Given the description of an element on the screen output the (x, y) to click on. 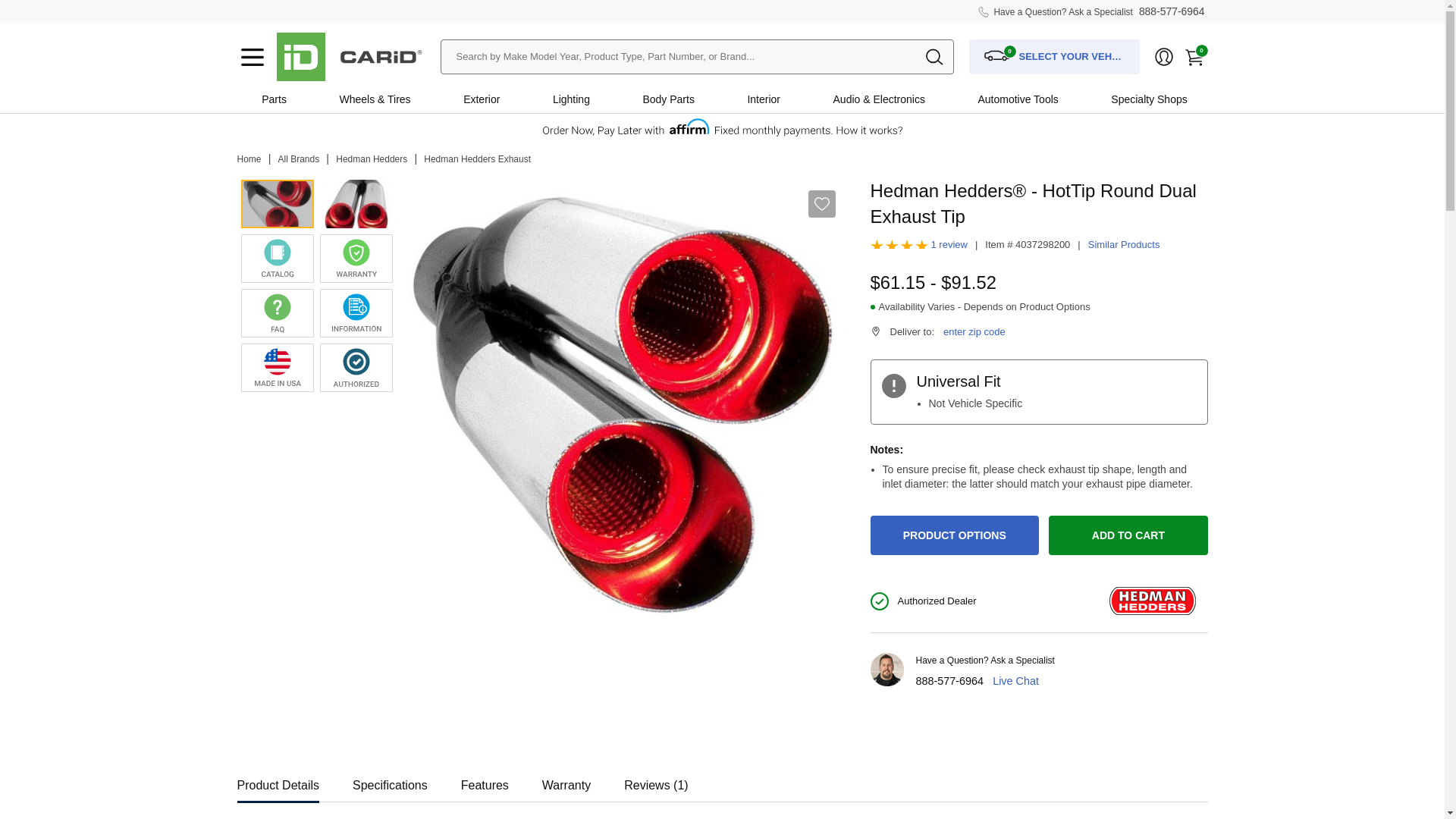
Lighting (570, 99)
Product Details (276, 780)
Wheels (356, 99)
Exterior (480, 99)
Hedman Hedders Exhaust (477, 158)
Home (247, 158)
1 review (949, 244)
Product Details (276, 780)
888-577-6964 (949, 680)
Automotive Tools (1017, 99)
Body Parts (667, 99)
Made In USA (277, 367)
ADD TO CART (1127, 535)
PRODUCT OPTIONS (954, 535)
1 review (949, 244)
